Given the description of an element on the screen output the (x, y) to click on. 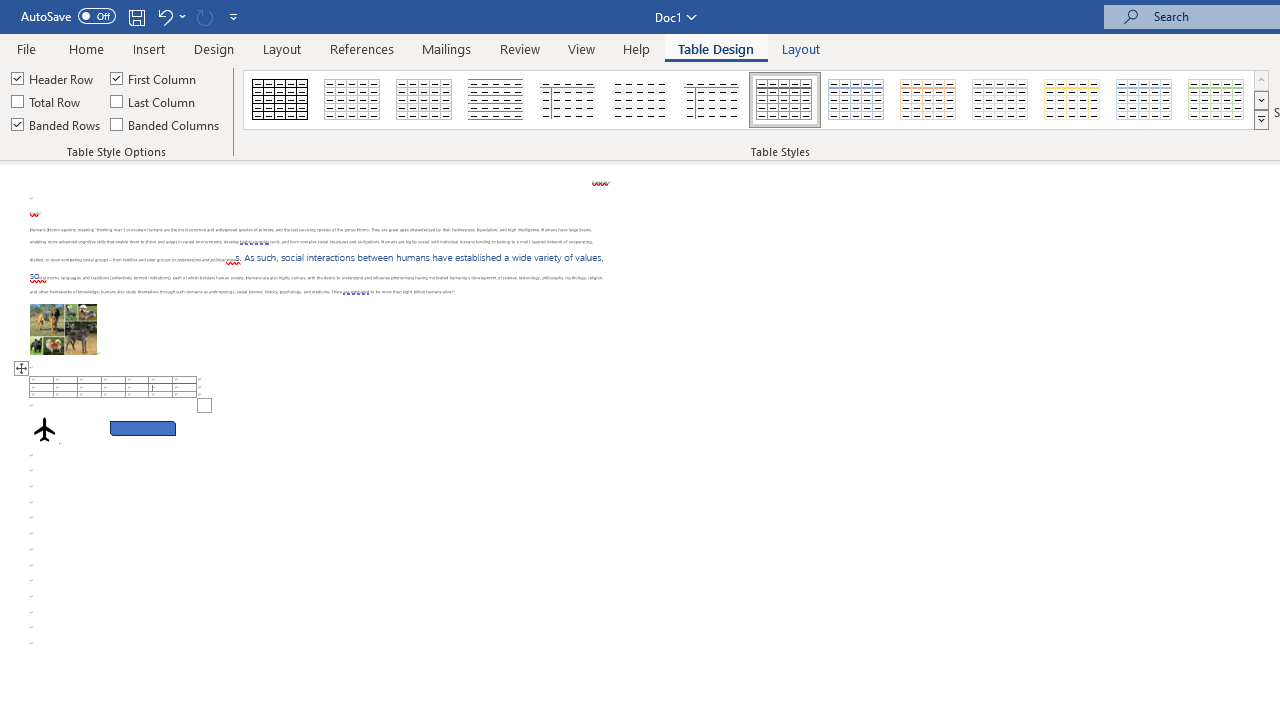
First Column (155, 78)
Rectangle: Diagonal Corners Snipped 2 (143, 428)
Plain Table 5 (712, 100)
Banded Rows (57, 124)
Grid Table 1 Light (784, 100)
